Given the description of an element on the screen output the (x, y) to click on. 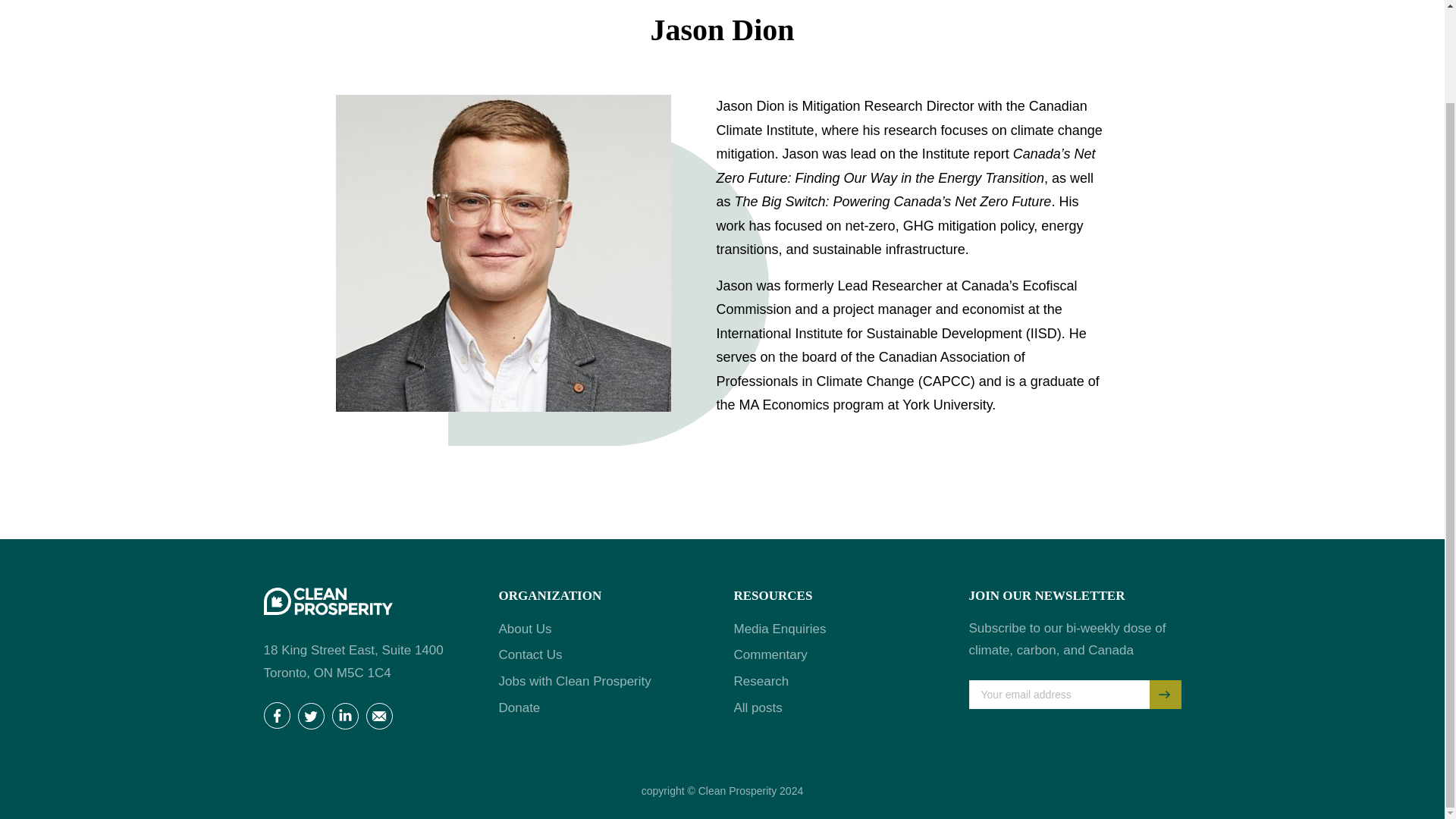
Contact Us (530, 654)
Research (761, 681)
All posts (758, 707)
About Us (525, 628)
Media Enquiries (780, 628)
SUBSCRIBE (1165, 694)
Commentary (770, 654)
Jobs with Clean Prosperity (574, 681)
Donate (519, 707)
